Given the description of an element on the screen output the (x, y) to click on. 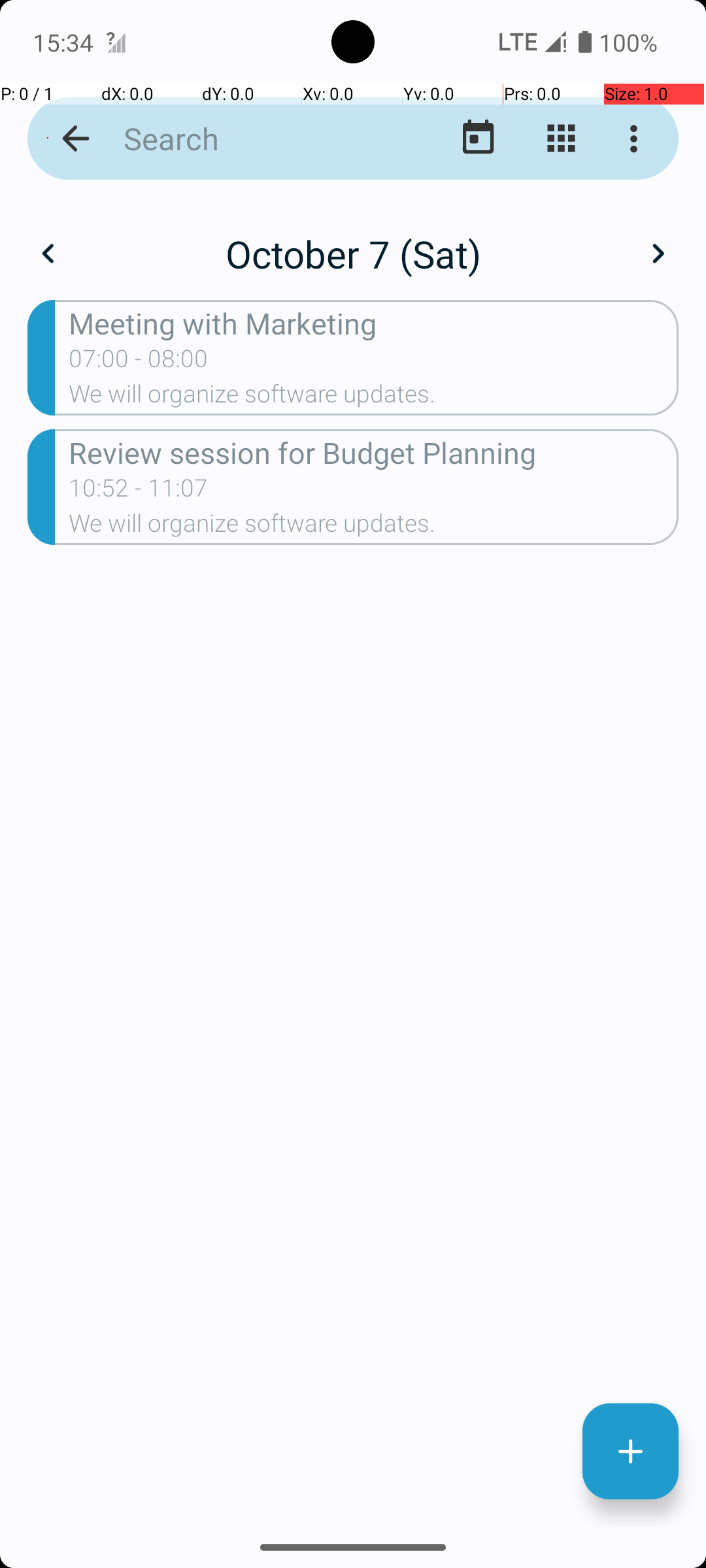
October 7 (Sat) Element type: android.widget.TextView (352, 253)
07:00 - 08:00 Element type: android.widget.TextView (137, 362)
We will organize software updates. Element type: android.widget.TextView (373, 397)
10:52 - 11:07 Element type: android.widget.TextView (137, 491)
